Given the description of an element on the screen output the (x, y) to click on. 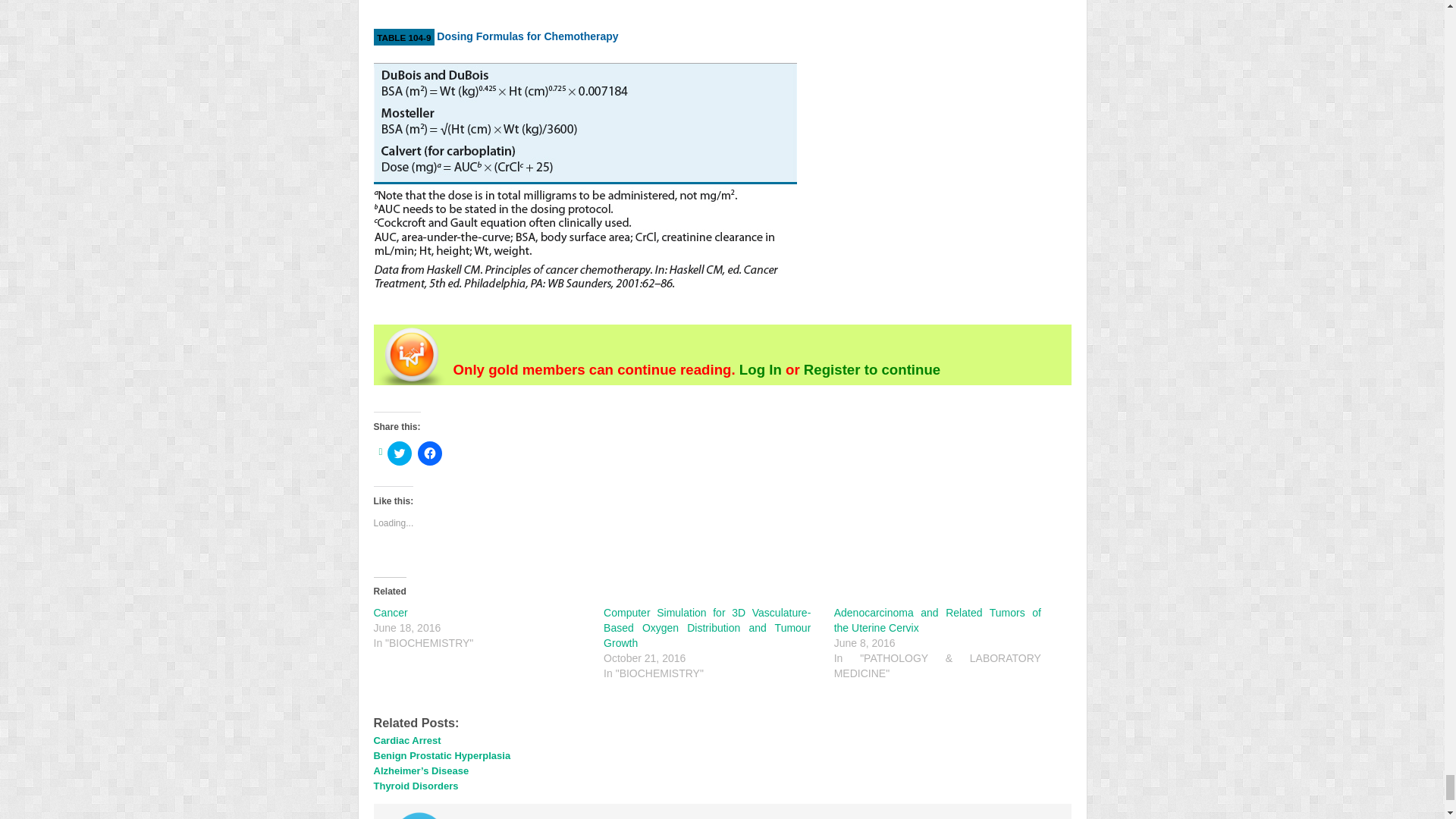
Benign Prostatic Hyperplasia (441, 755)
Cancer (389, 612)
Click to share on Twitter (399, 453)
Thyroid Disorders (415, 785)
Cardiac Arrest (406, 740)
Adenocarcinoma and Related Tumors of the Uterine Cervix (937, 619)
Click to share on Facebook (429, 453)
